Given the description of an element on the screen output the (x, y) to click on. 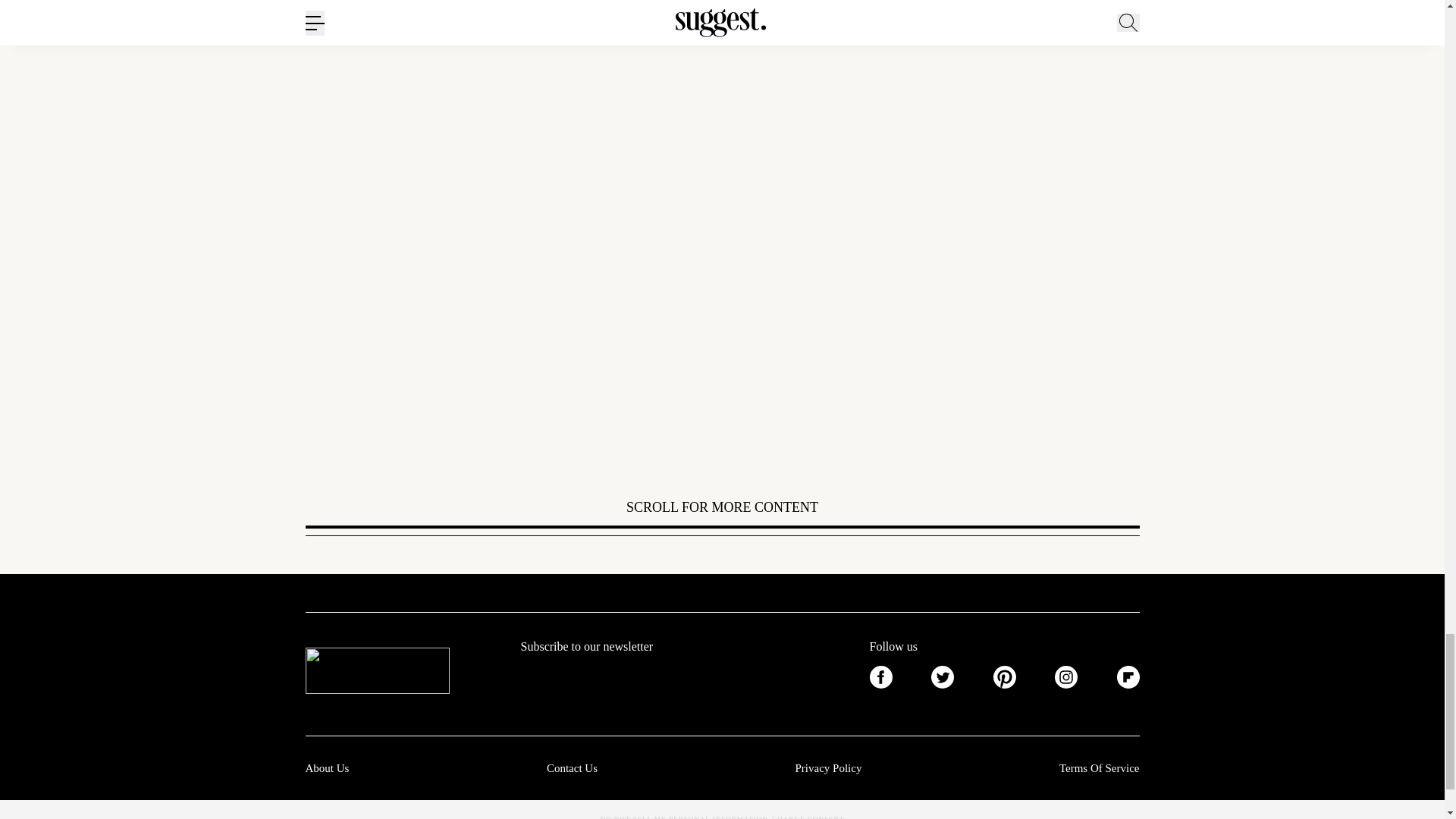
Contact Us (571, 767)
About Us (326, 767)
